Given the description of an element on the screen output the (x, y) to click on. 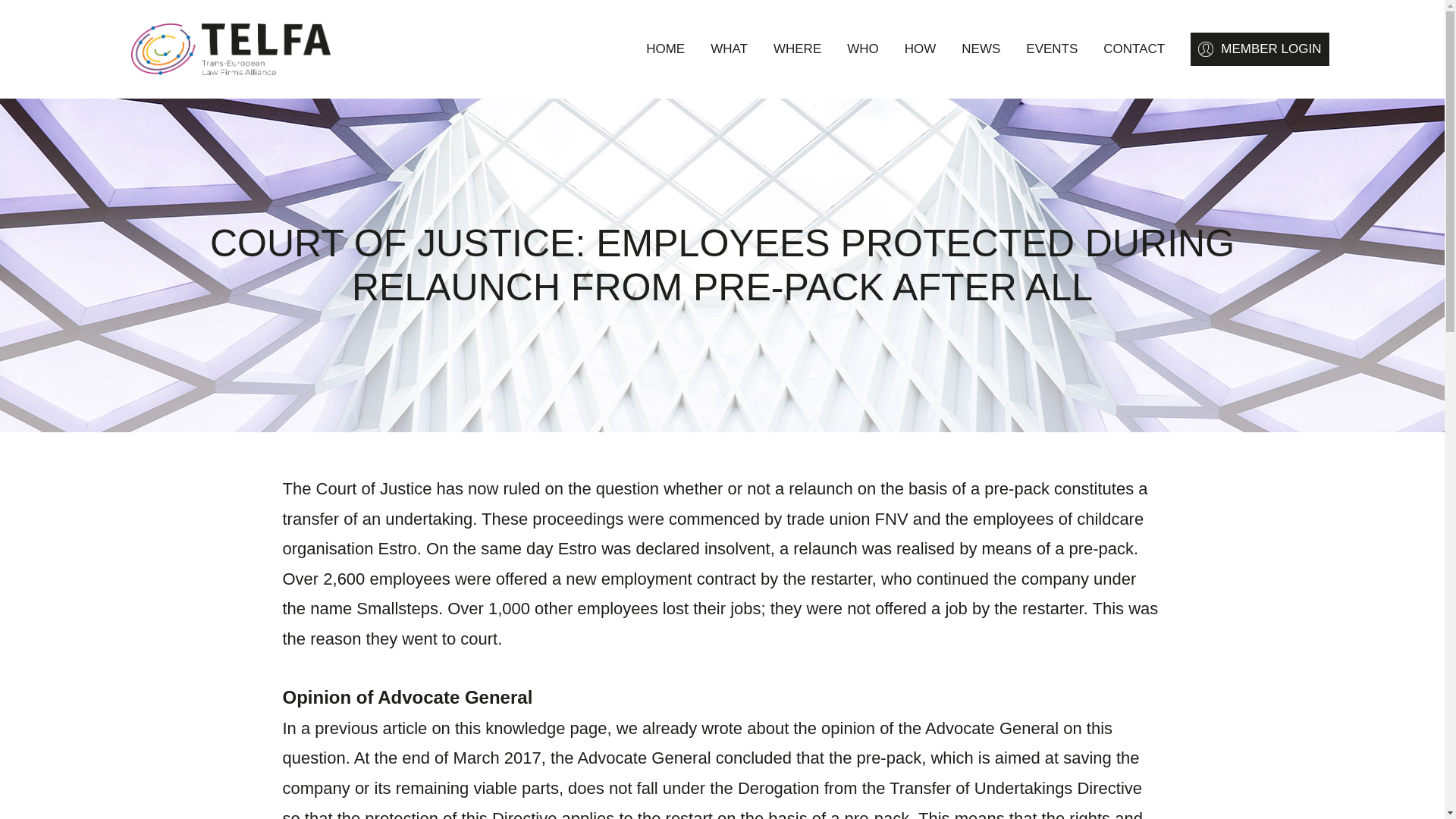
WHAT (729, 48)
HOME (665, 48)
WHERE (797, 48)
